Given the description of an element on the screen output the (x, y) to click on. 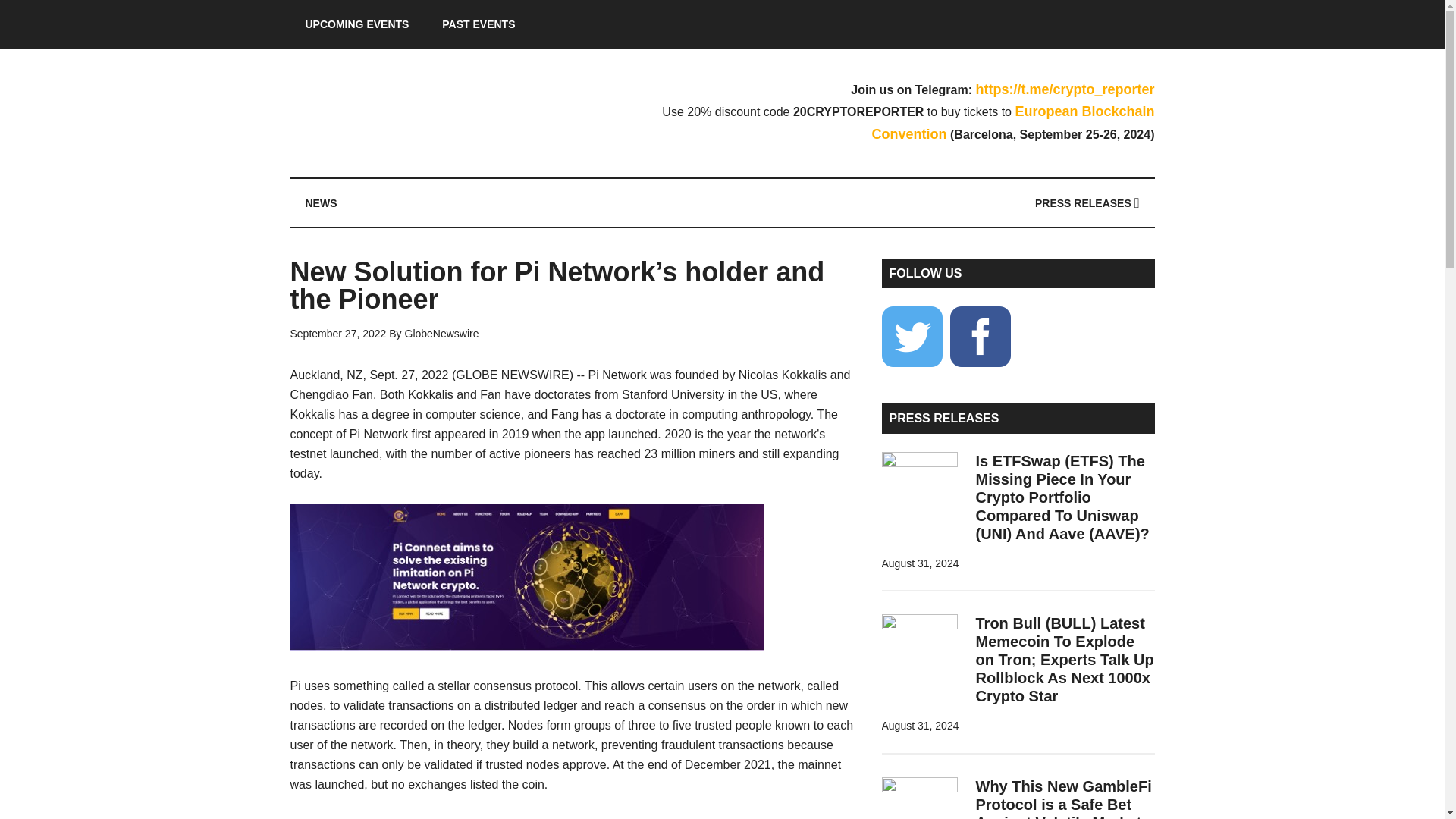
PAST EVENTS (477, 24)
UPCOMING EVENTS (356, 24)
Crypto Reporter (433, 112)
NEWS (320, 203)
European Blockchain Convention (1013, 122)
